Given the description of an element on the screen output the (x, y) to click on. 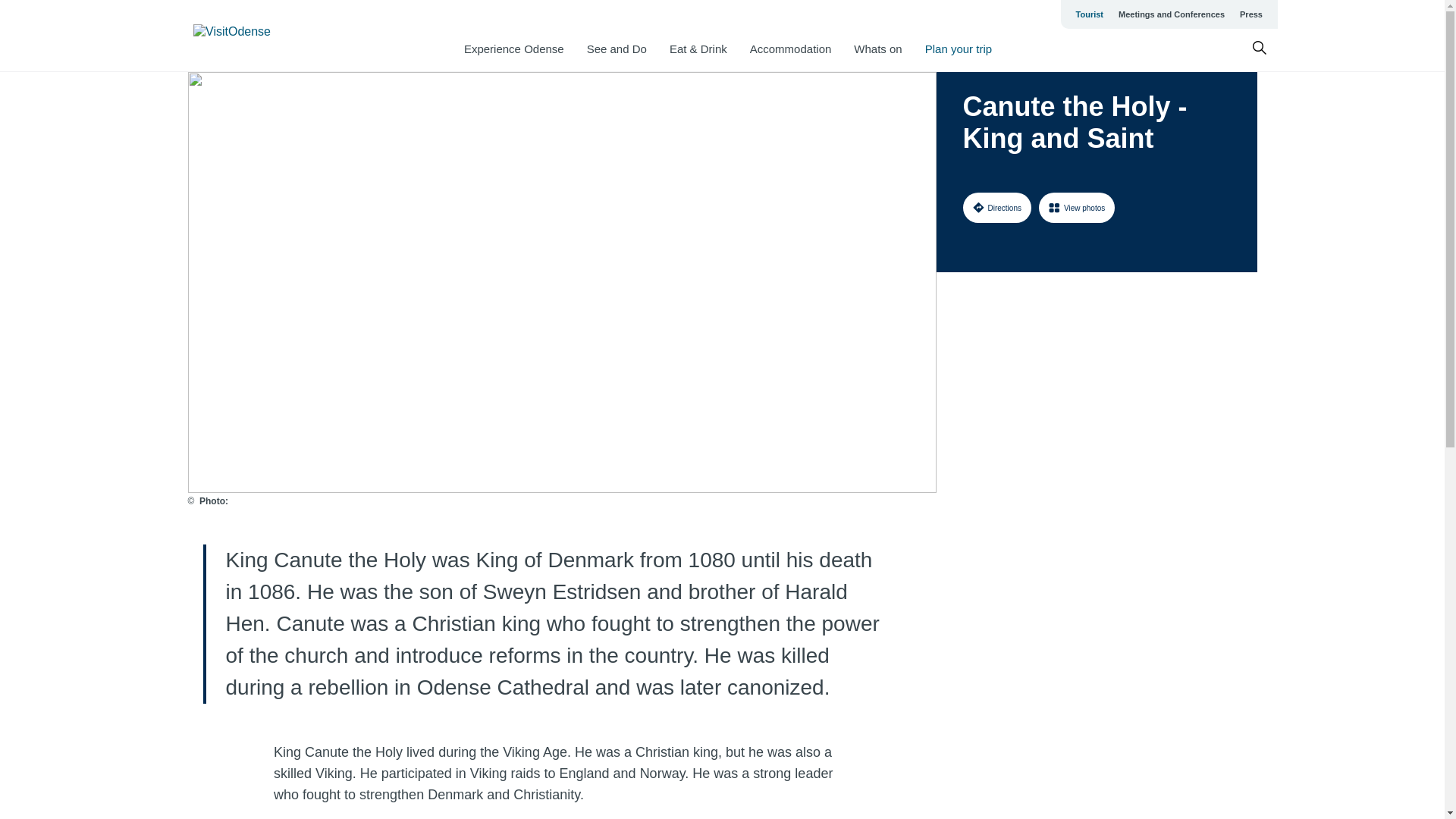
Directions (996, 207)
Press (1250, 14)
Tourist (1089, 14)
Go to homepage (253, 35)
Experience Odense (514, 48)
Plan your trip (957, 48)
View photos (1077, 207)
Meetings and Conferences (1170, 14)
See and Do (616, 48)
Accommodation (790, 48)
Whats on (877, 48)
